Given the description of an element on the screen output the (x, y) to click on. 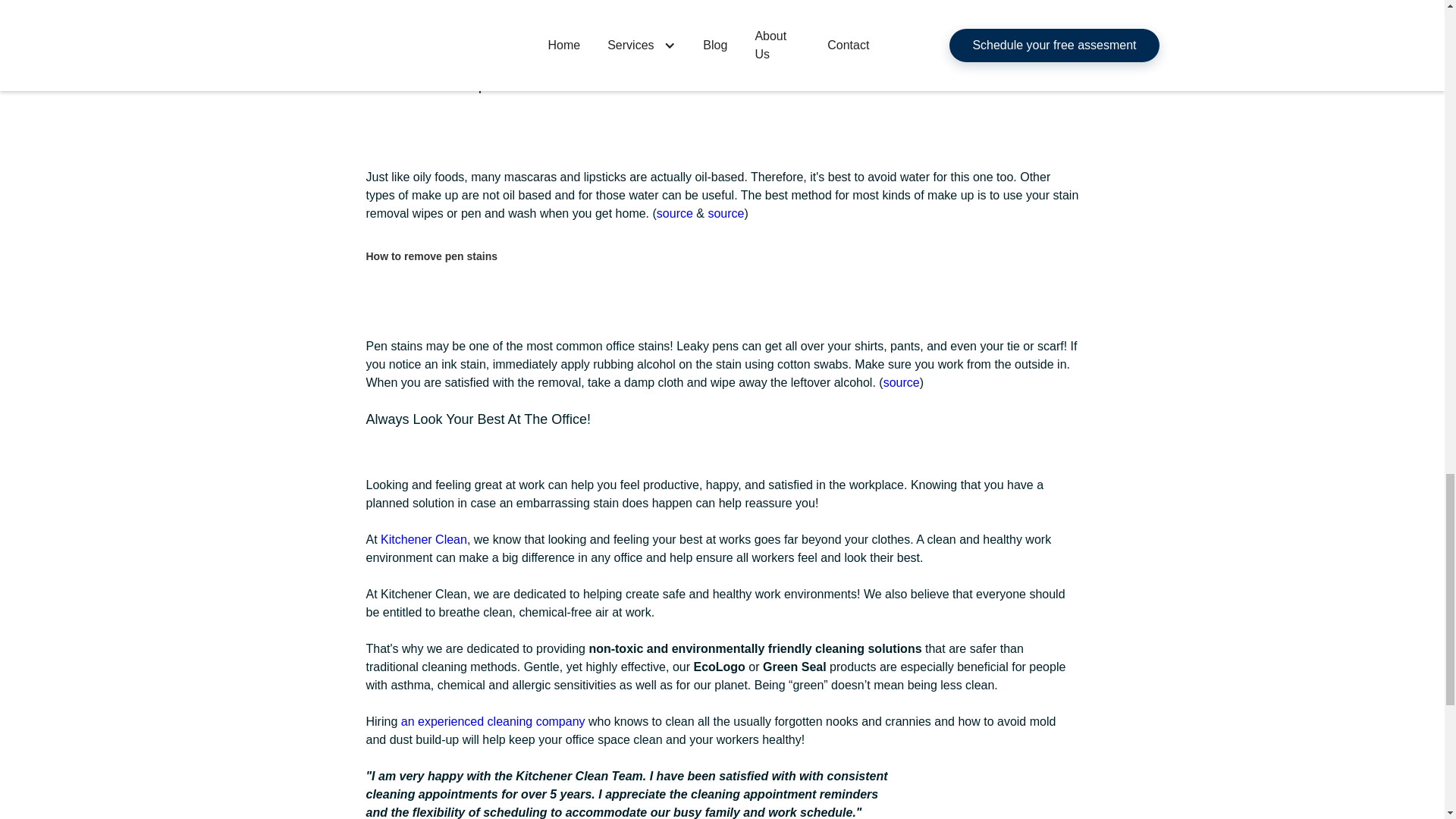
Kitchener Clean (423, 539)
an experienced cleaning company (493, 721)
source (911, 43)
source (725, 213)
source (675, 213)
source (901, 382)
